Given the description of an element on the screen output the (x, y) to click on. 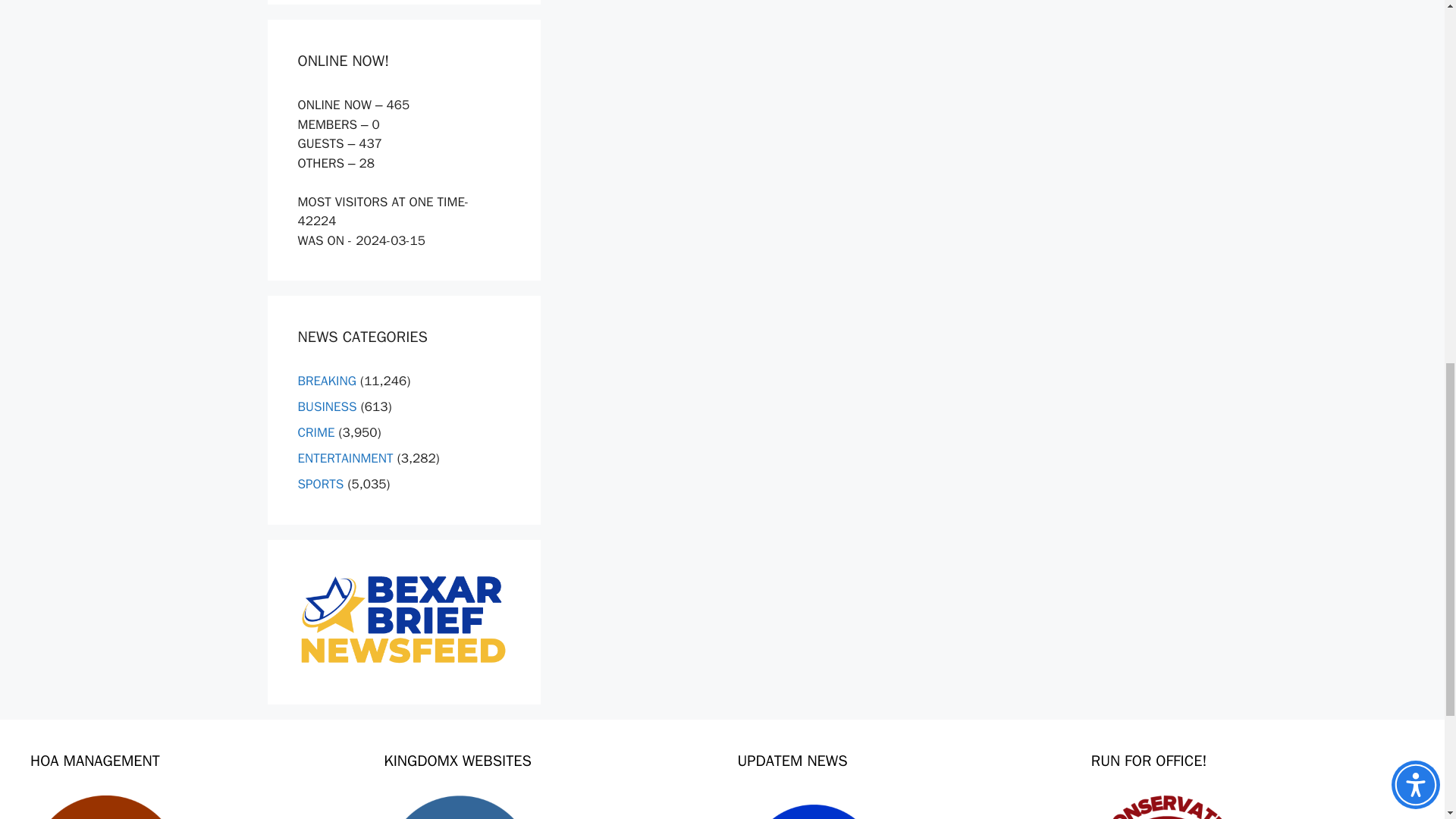
BREAKING (326, 381)
ENTERTAINMENT (345, 458)
SPORTS (320, 483)
BUSINESS (326, 406)
CRIME (315, 432)
